Given the description of an element on the screen output the (x, y) to click on. 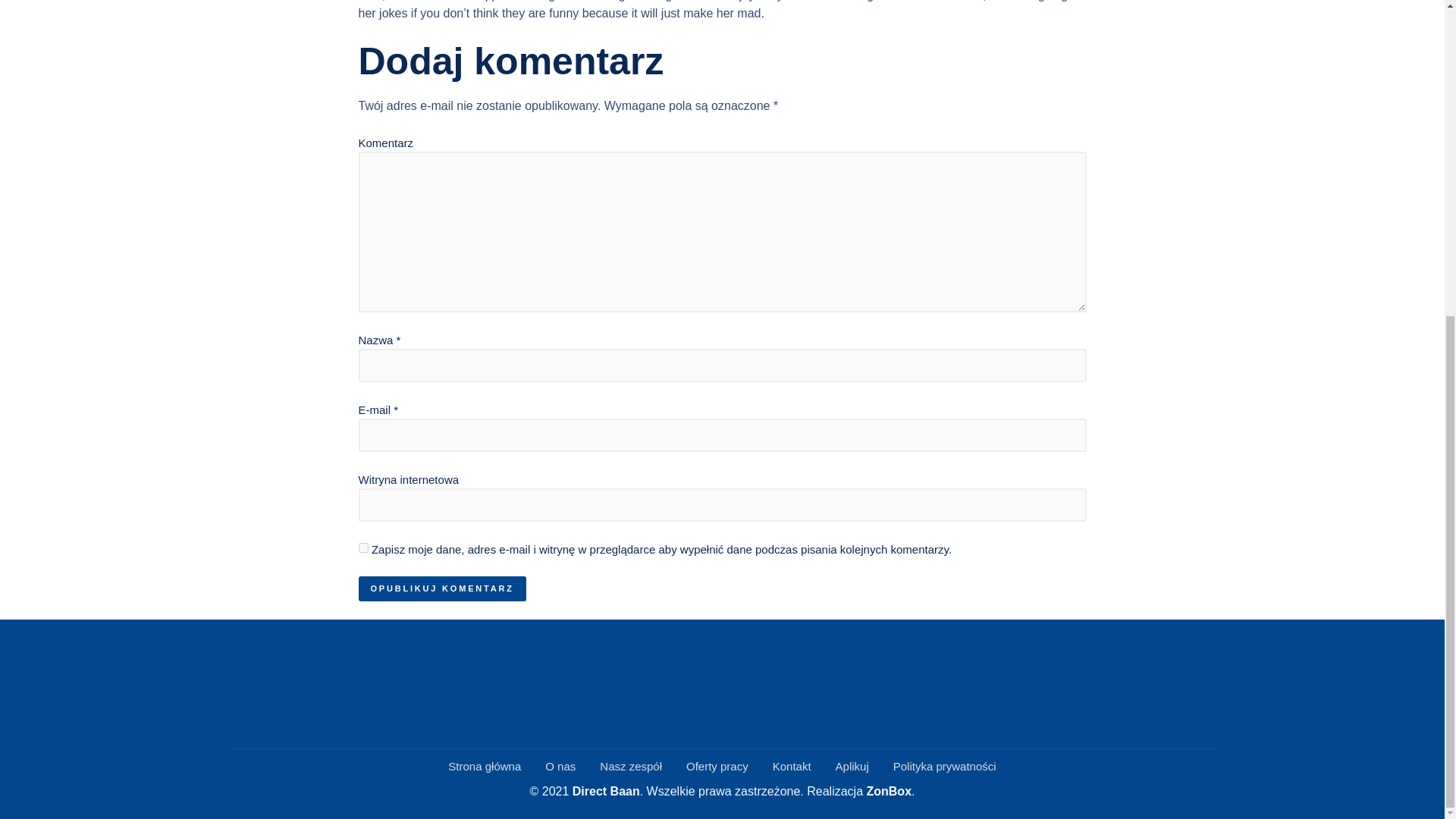
Opublikuj komentarz (441, 588)
Opublikuj komentarz (441, 588)
yes (363, 547)
ZonBox (888, 790)
Aplikuj (852, 766)
Kontakt (791, 766)
Oferty pracy (716, 766)
O nas (559, 766)
